Given the description of an element on the screen output the (x, y) to click on. 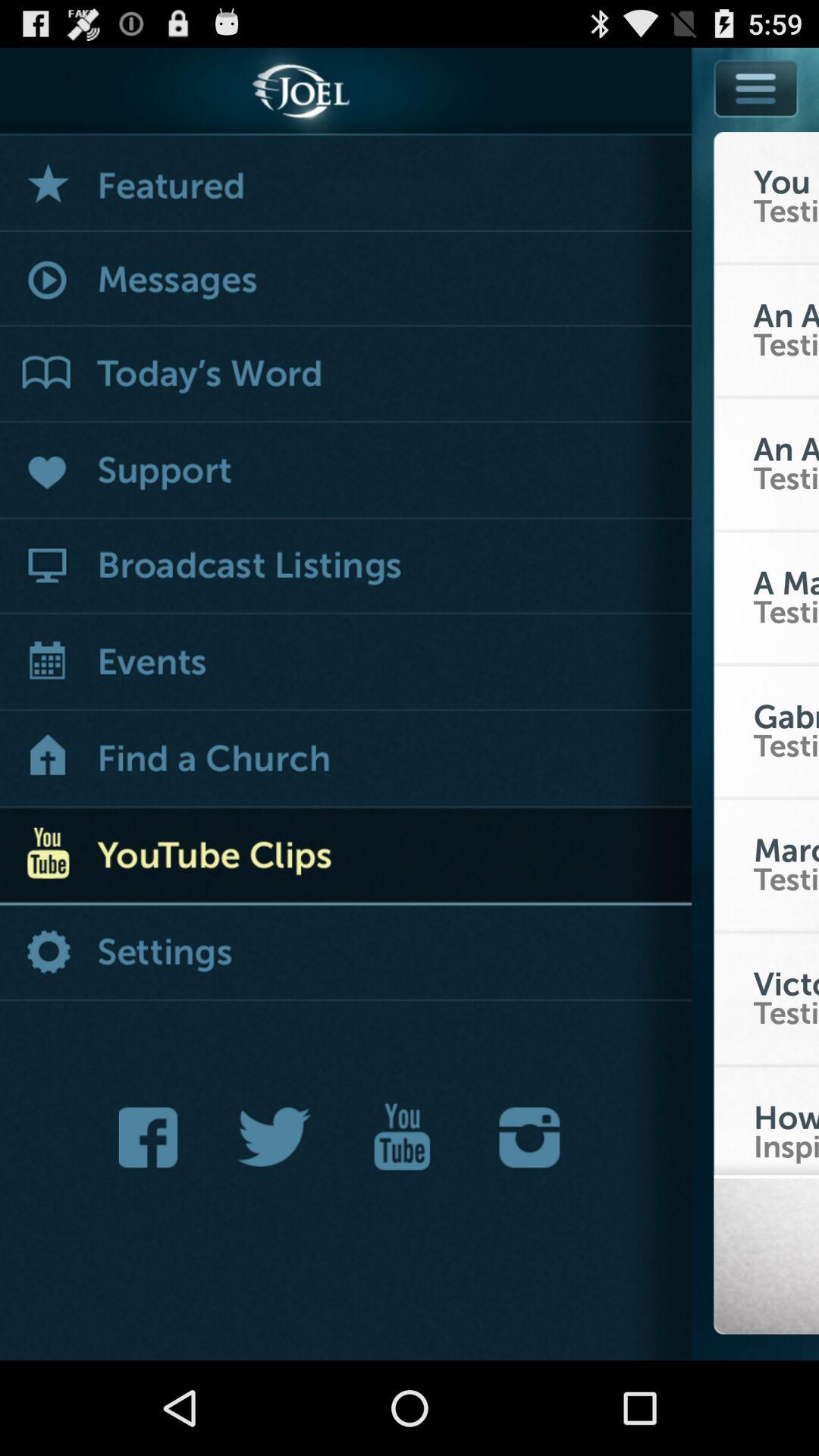
view youtube clips (345, 856)
